Given the description of an element on the screen output the (x, y) to click on. 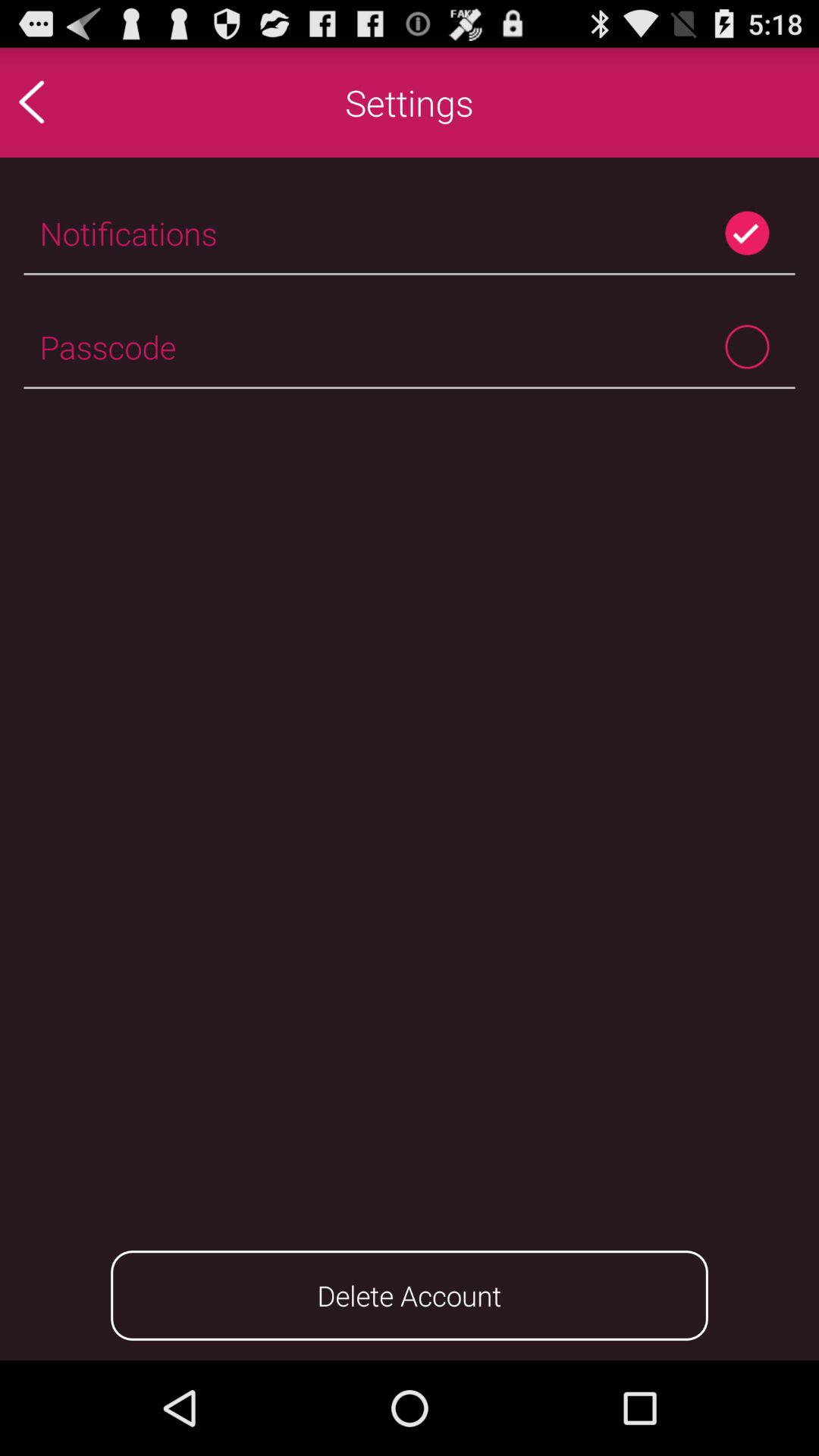
set passcode requirement (747, 346)
